Given the description of an element on the screen output the (x, y) to click on. 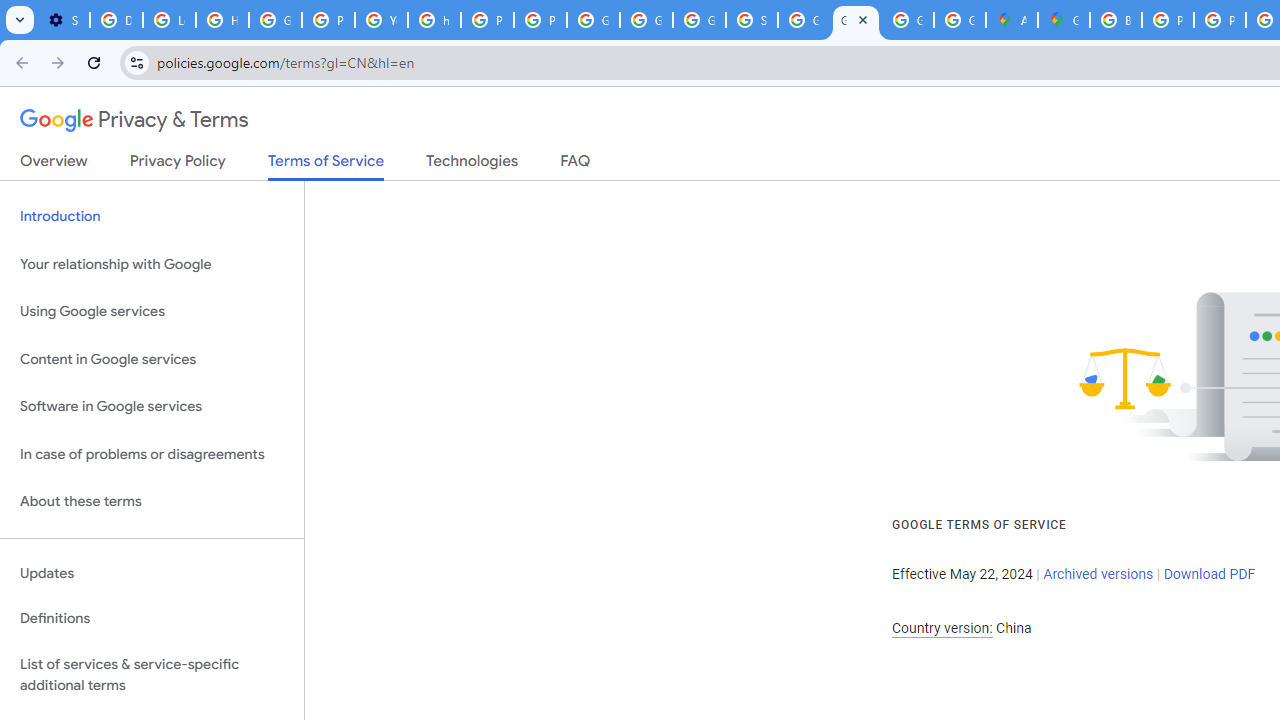
Definitions (152, 619)
Using Google services (152, 312)
